Given the description of an element on the screen output the (x, y) to click on. 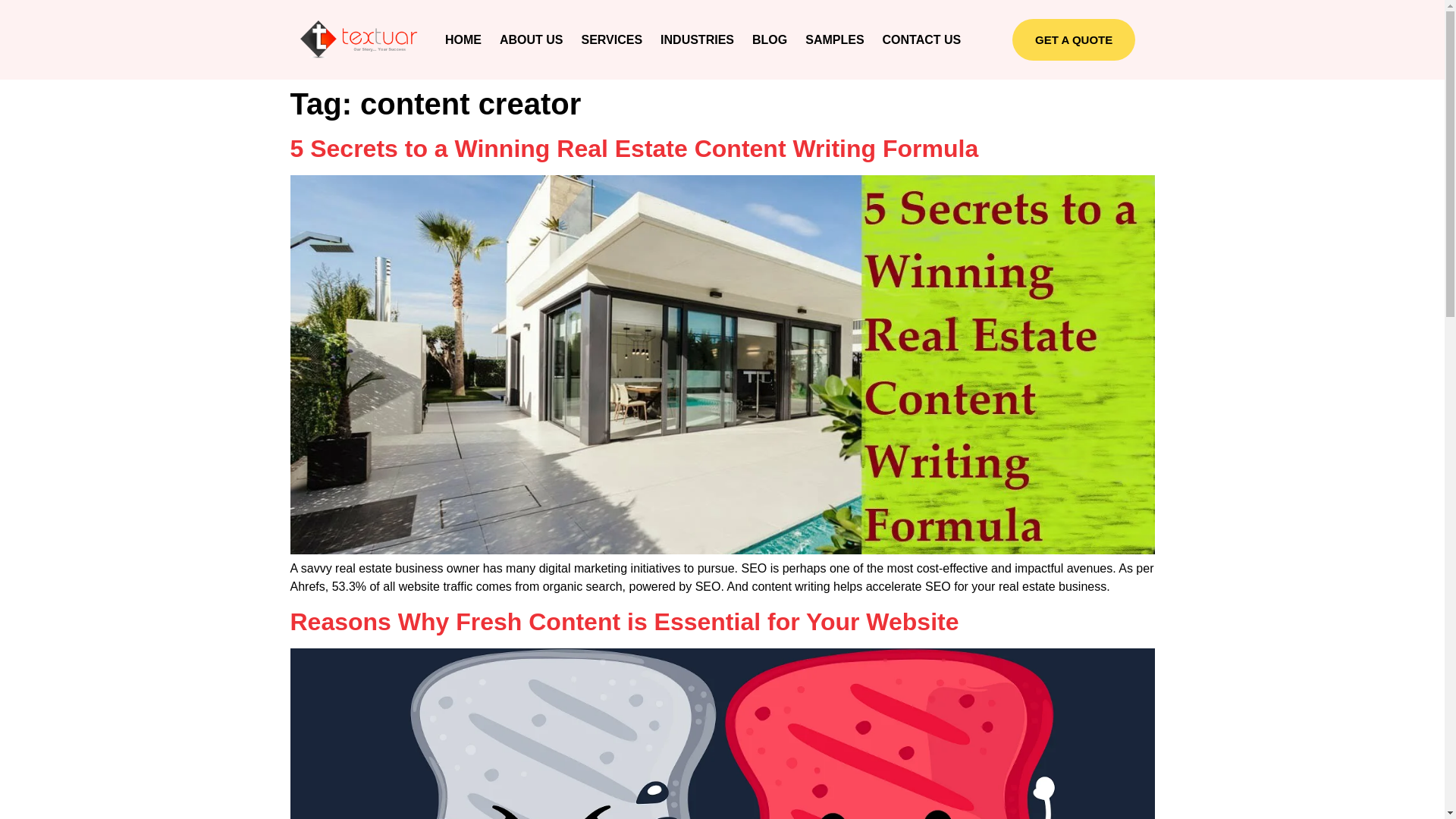
INDUSTRIES (696, 39)
BLOG (769, 39)
CONTACT US (922, 39)
ABOUT US (531, 39)
SAMPLES (834, 39)
HOME (462, 39)
SERVICES (611, 39)
